Given the description of an element on the screen output the (x, y) to click on. 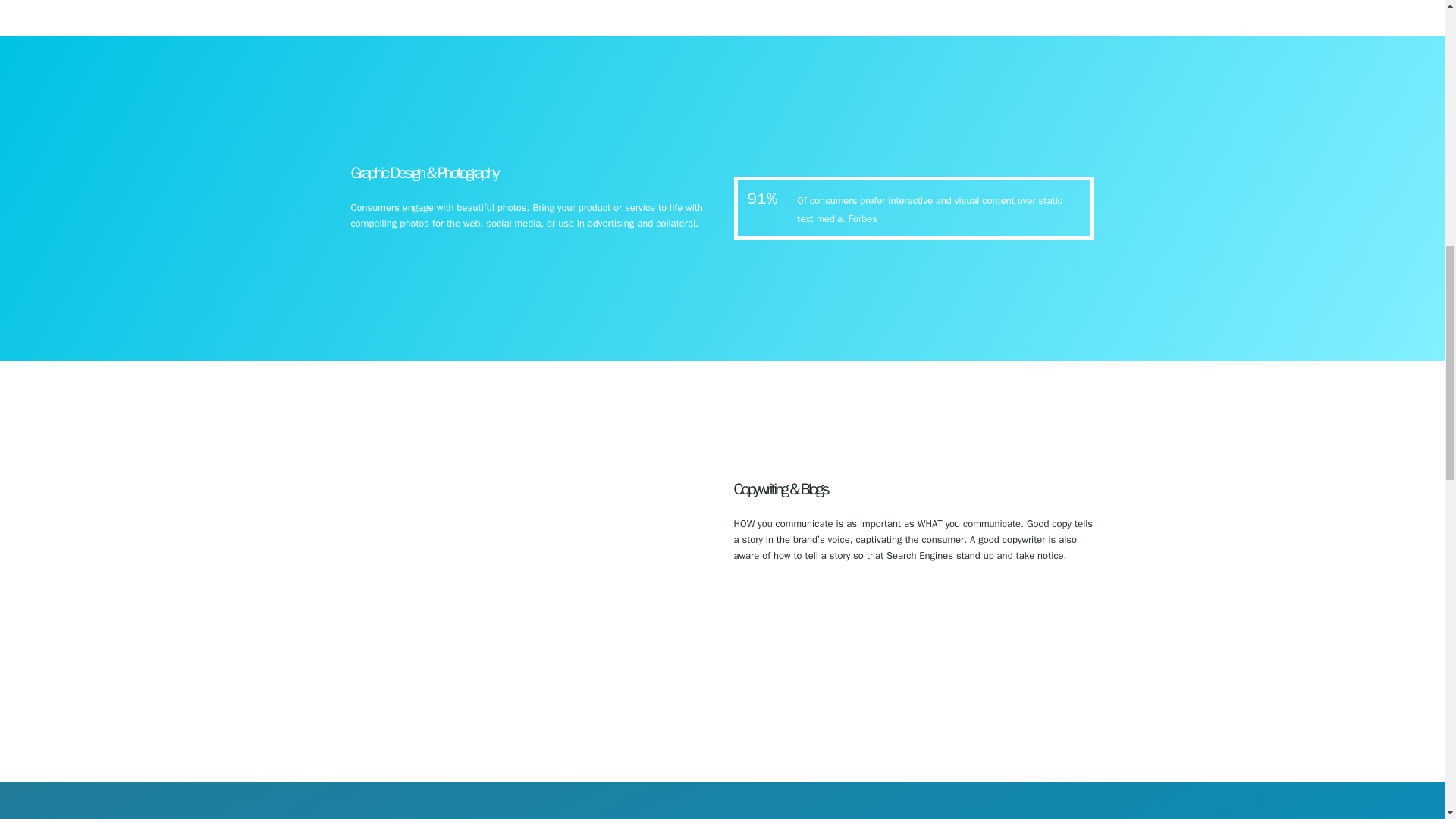
Copywriting-SEO (530, 569)
Forbes (862, 218)
